Given the description of an element on the screen output the (x, y) to click on. 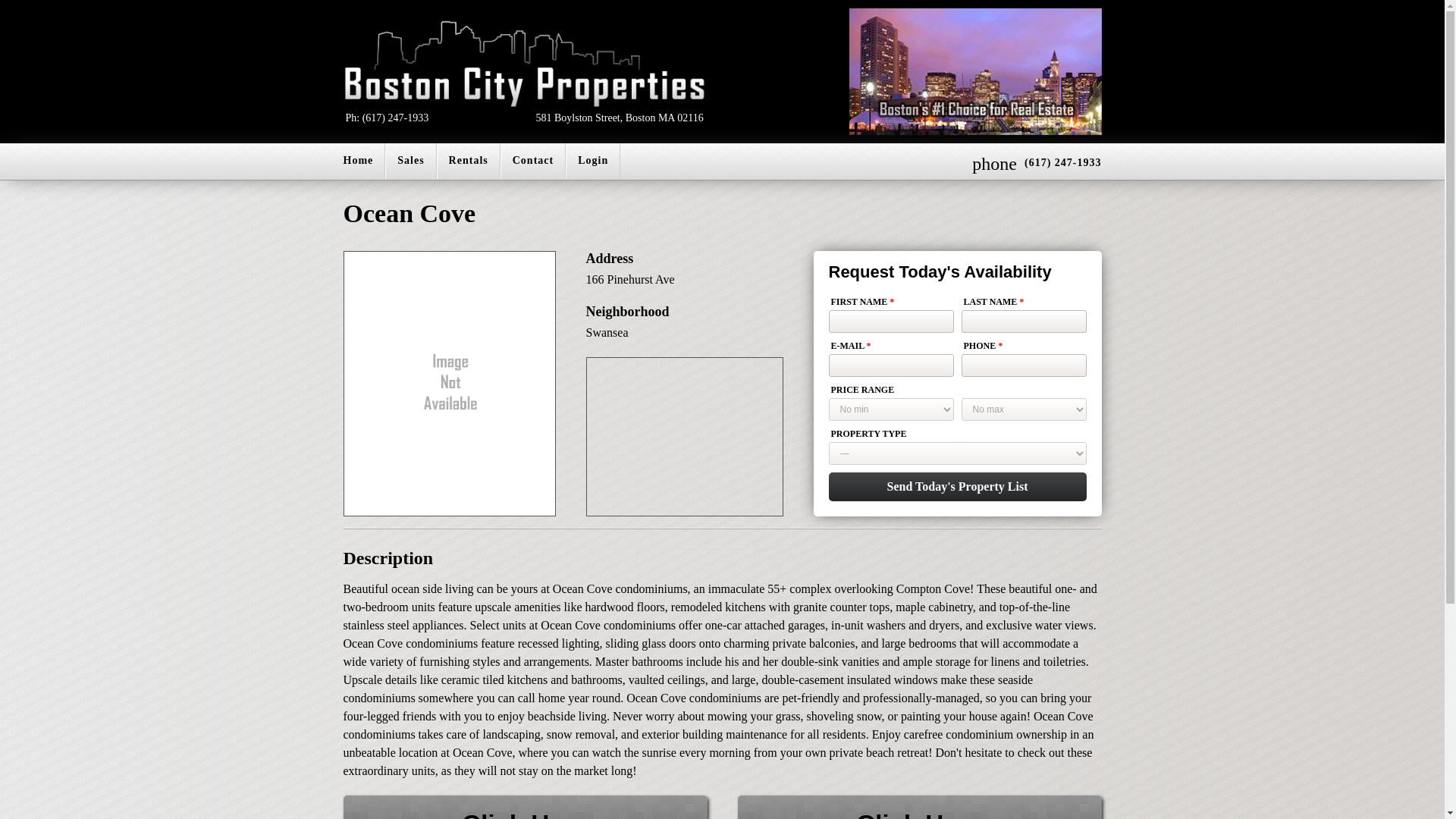
Send Today's Property List (957, 486)
Contact (524, 807)
Home (918, 807)
Sales (533, 161)
Rentals (358, 161)
Login (410, 161)
